Given the description of an element on the screen output the (x, y) to click on. 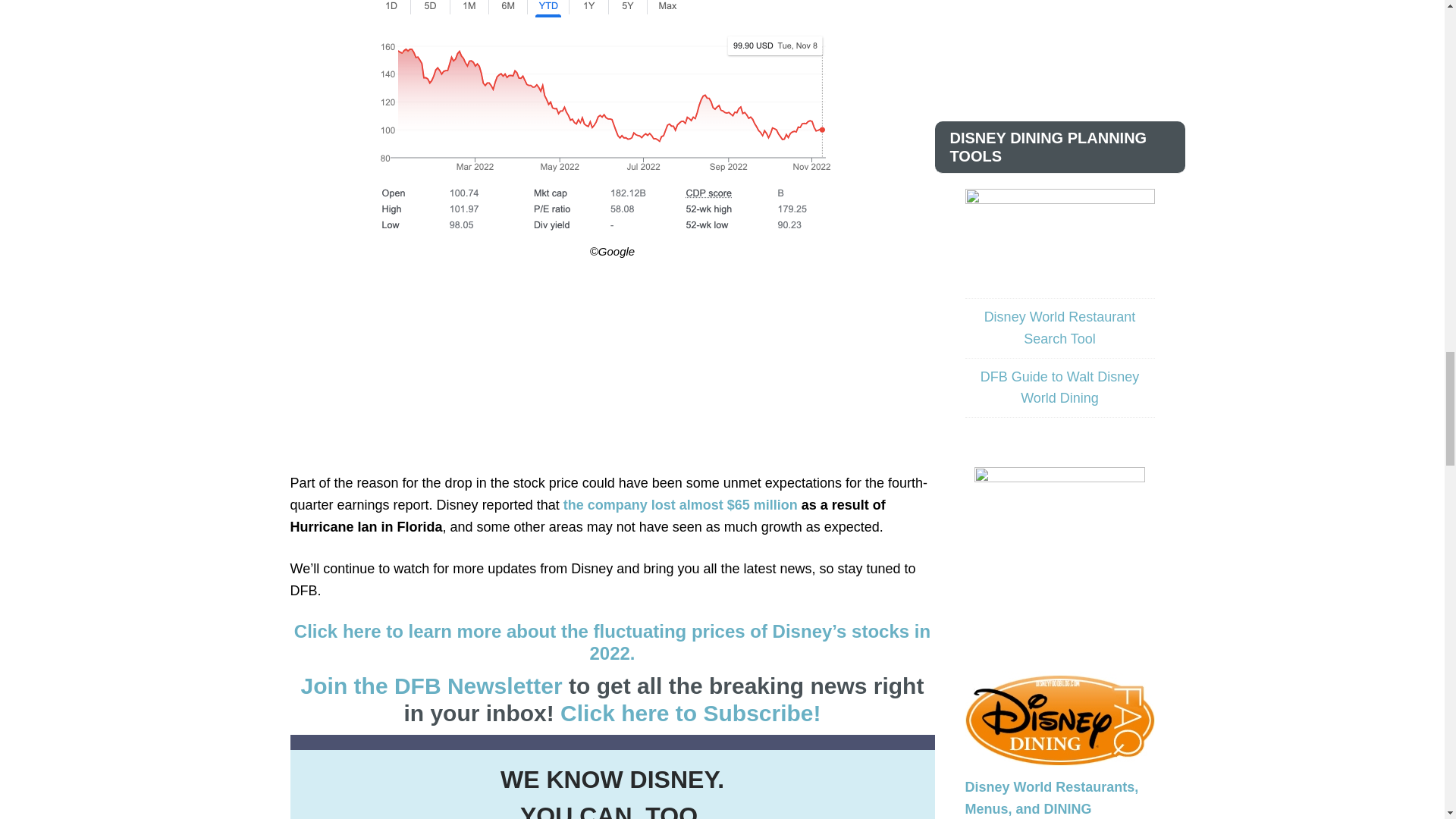
asseeninsmall (1059, 534)
